Given the description of an element on the screen output the (x, y) to click on. 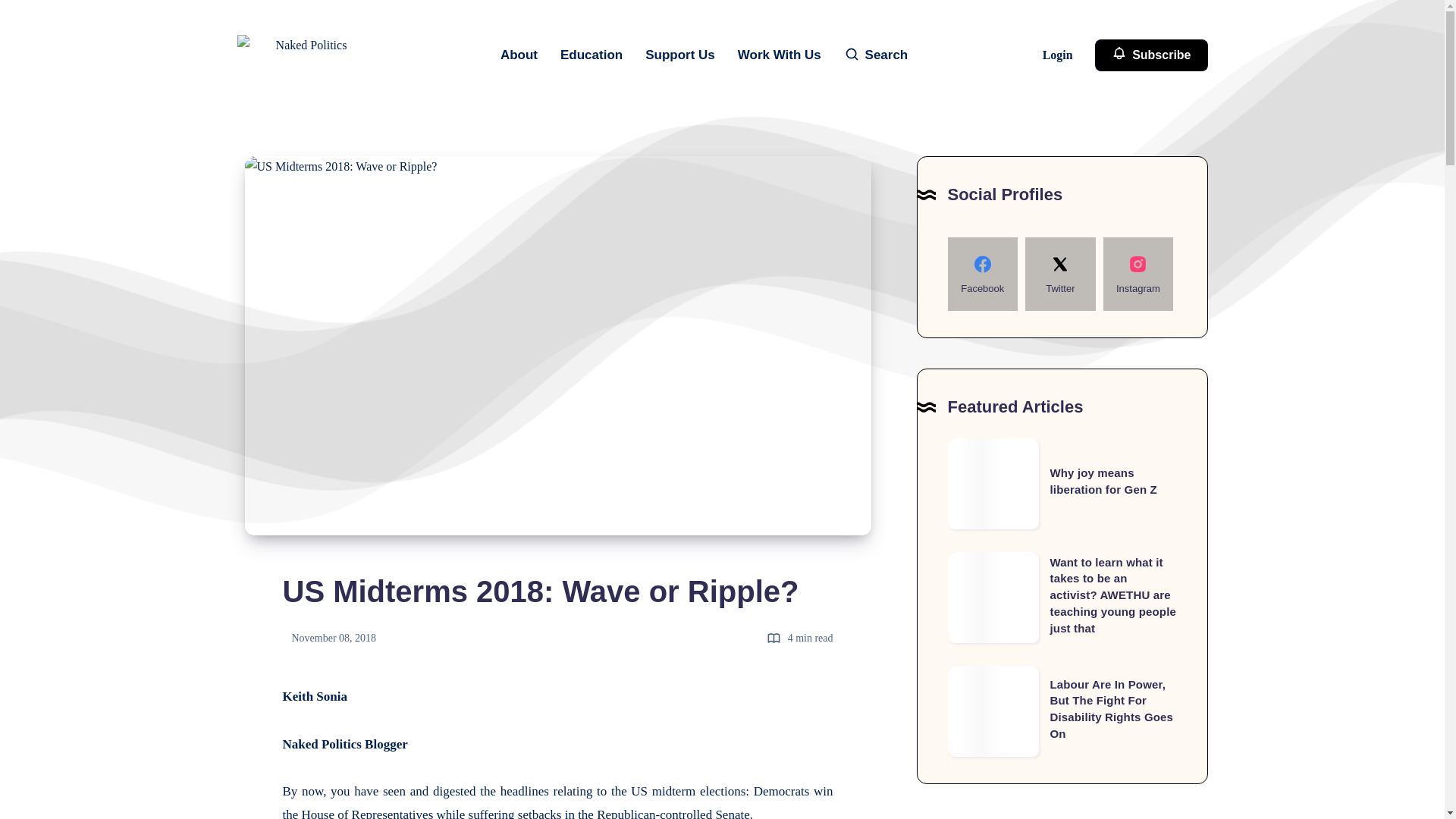
Education (591, 54)
Instagram (1138, 274)
Work With Us (779, 54)
Facebook (982, 274)
Login (1058, 54)
Support Us (679, 54)
Why joy means liberation for Gen Z (1102, 481)
